Given the description of an element on the screen output the (x, y) to click on. 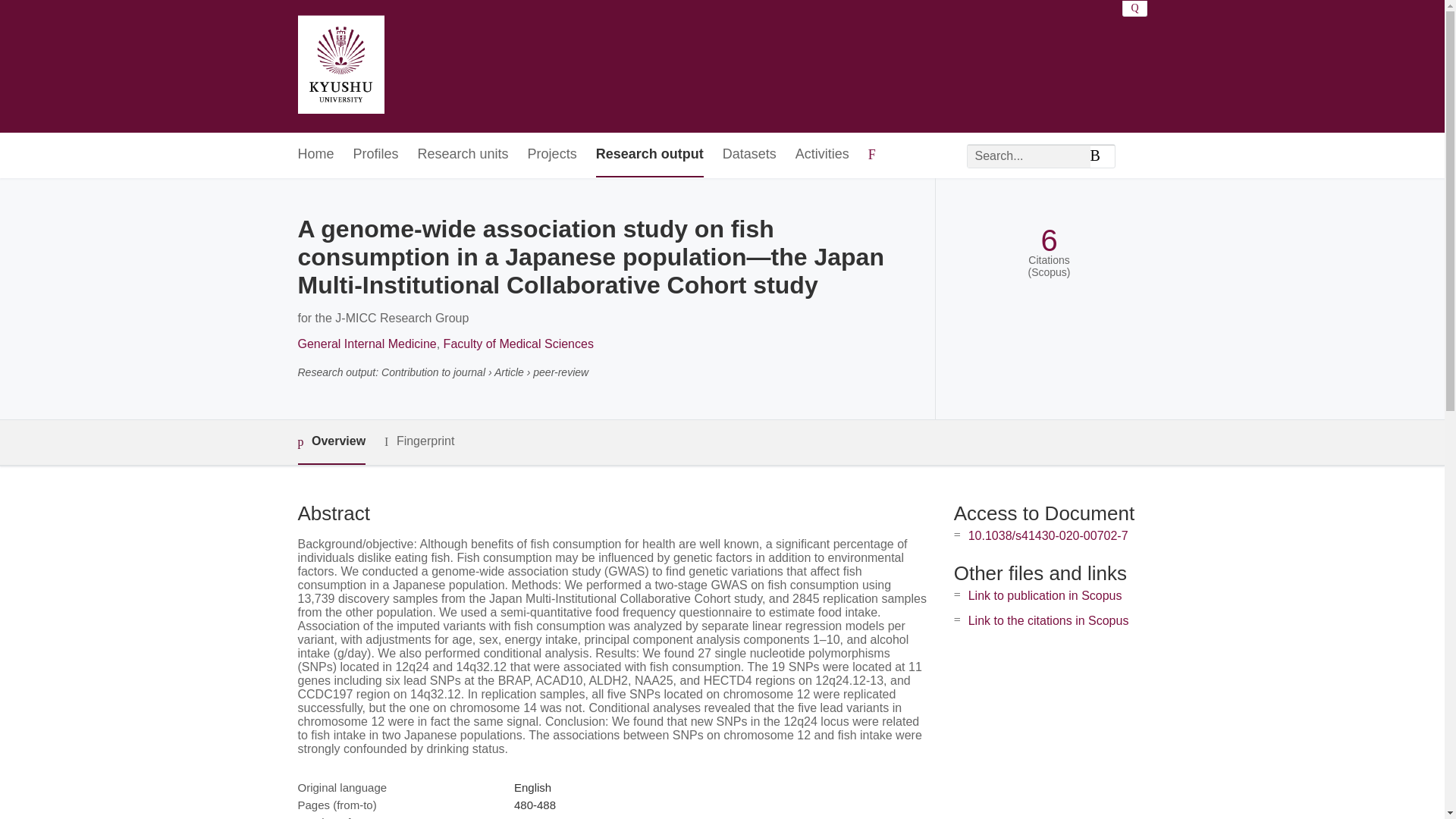
Link to the citations in Scopus (1048, 620)
Activities (821, 154)
Datasets (749, 154)
Projects (551, 154)
Overview (331, 442)
General Internal Medicine (366, 343)
Faculty of Medical Sciences (519, 343)
Research output (649, 154)
Research units (462, 154)
